Given the description of an element on the screen output the (x, y) to click on. 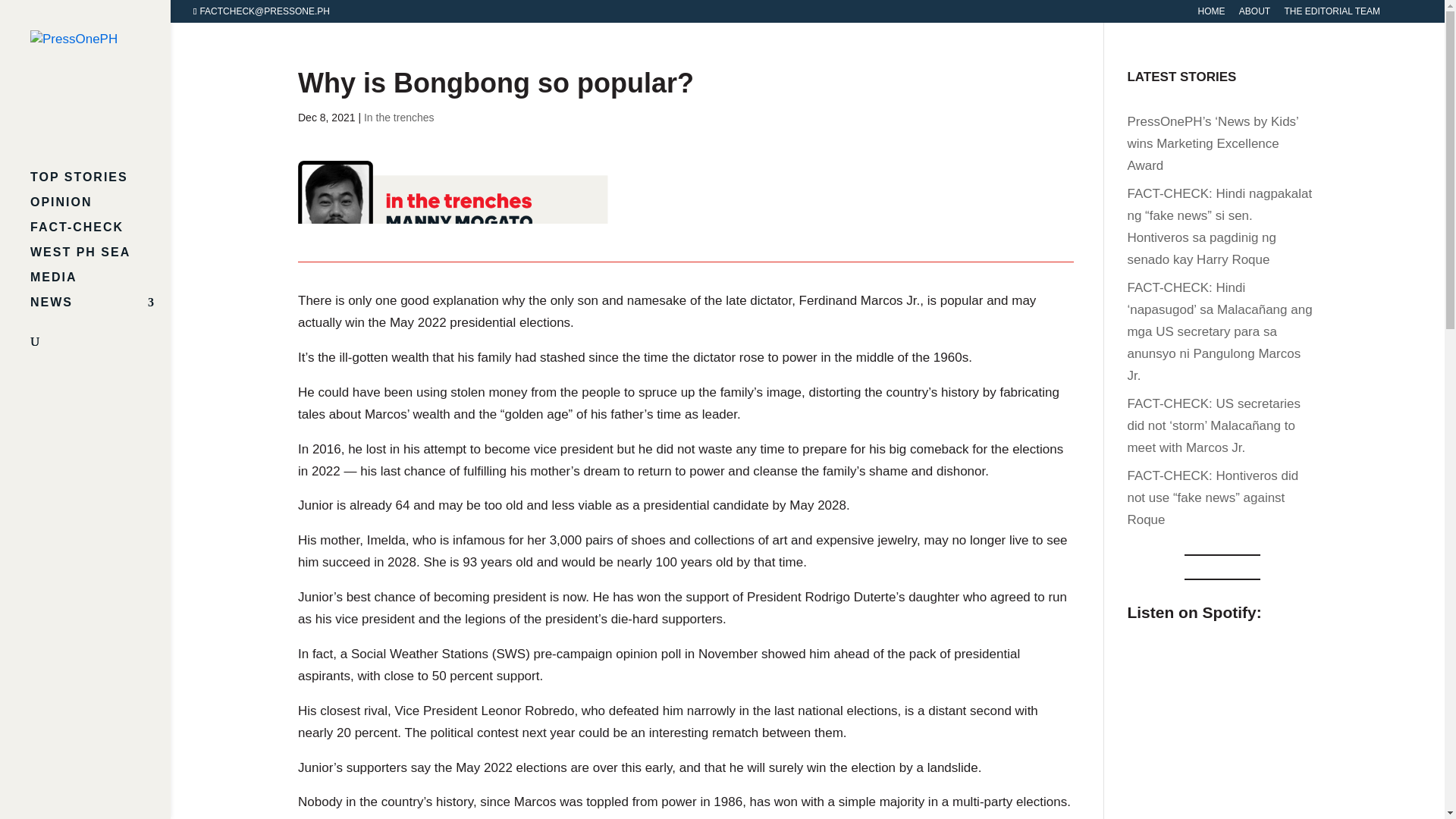
FACT-CHECK (100, 234)
NEWS (100, 309)
ABOUT (1254, 14)
OPINION (100, 209)
HOME (1210, 14)
In the trenches (398, 117)
WEST PH SEA (100, 259)
MEDIA (100, 284)
TOP STORIES (100, 184)
THE EDITORIAL TEAM (1332, 14)
